Given the description of an element on the screen output the (x, y) to click on. 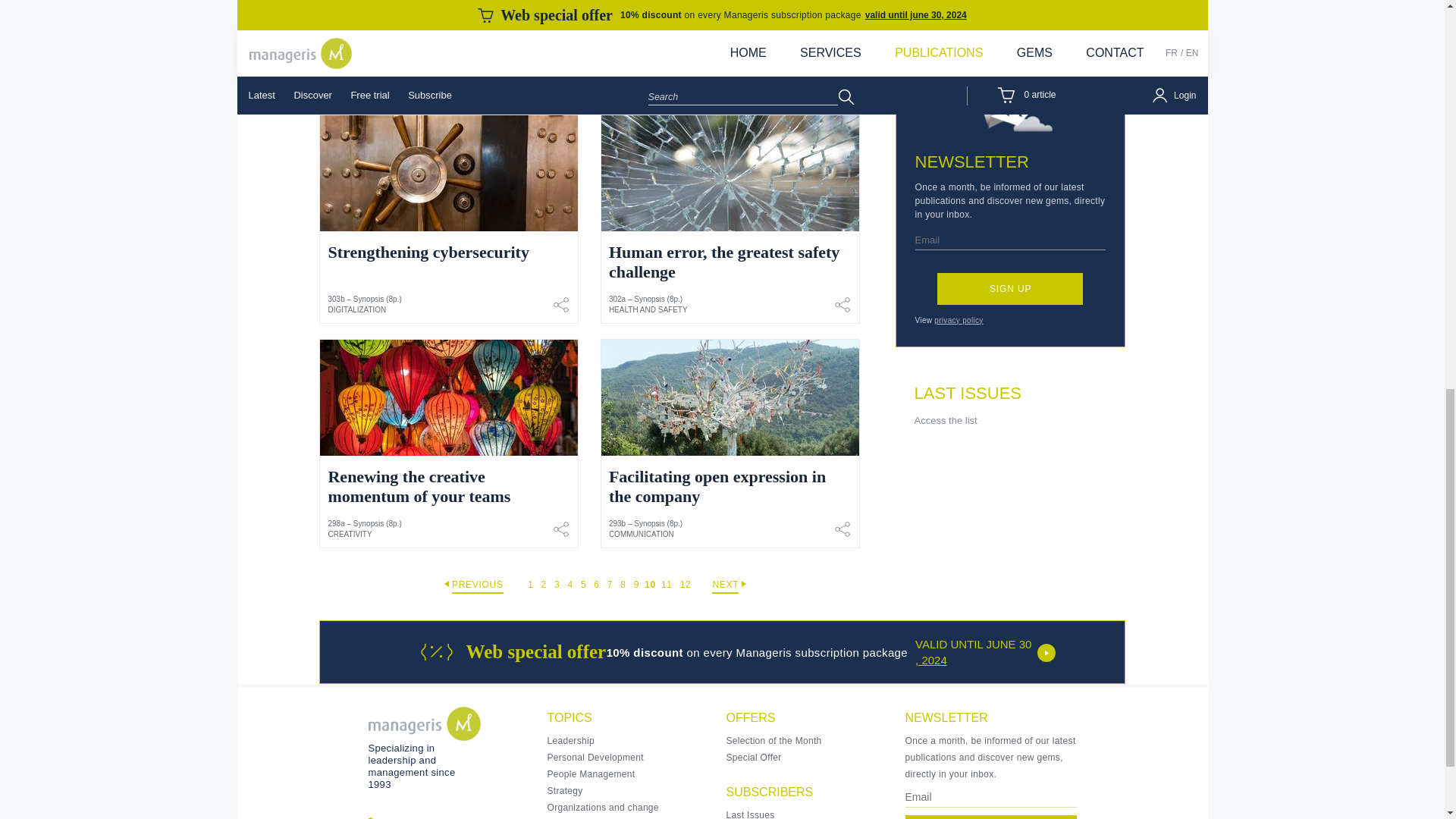
Share (842, 528)
Sign up (991, 816)
Share (561, 304)
Share (842, 79)
Sign up (1010, 288)
Share (561, 528)
Share (561, 79)
Share (842, 304)
